Given the description of an element on the screen output the (x, y) to click on. 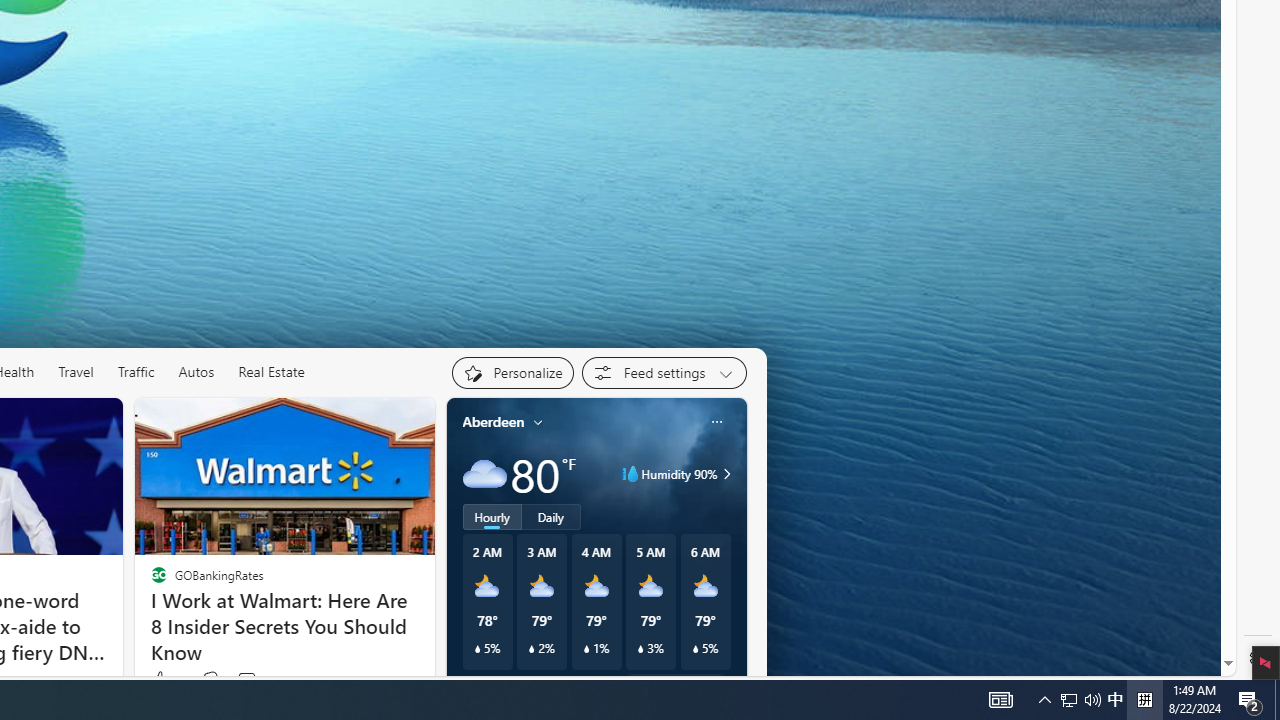
Class: weather-current-precipitation-glyph (695, 649)
Autos (196, 372)
Cloudy (484, 474)
Cloudy (484, 474)
Hourly (492, 516)
